Given the description of an element on the screen output the (x, y) to click on. 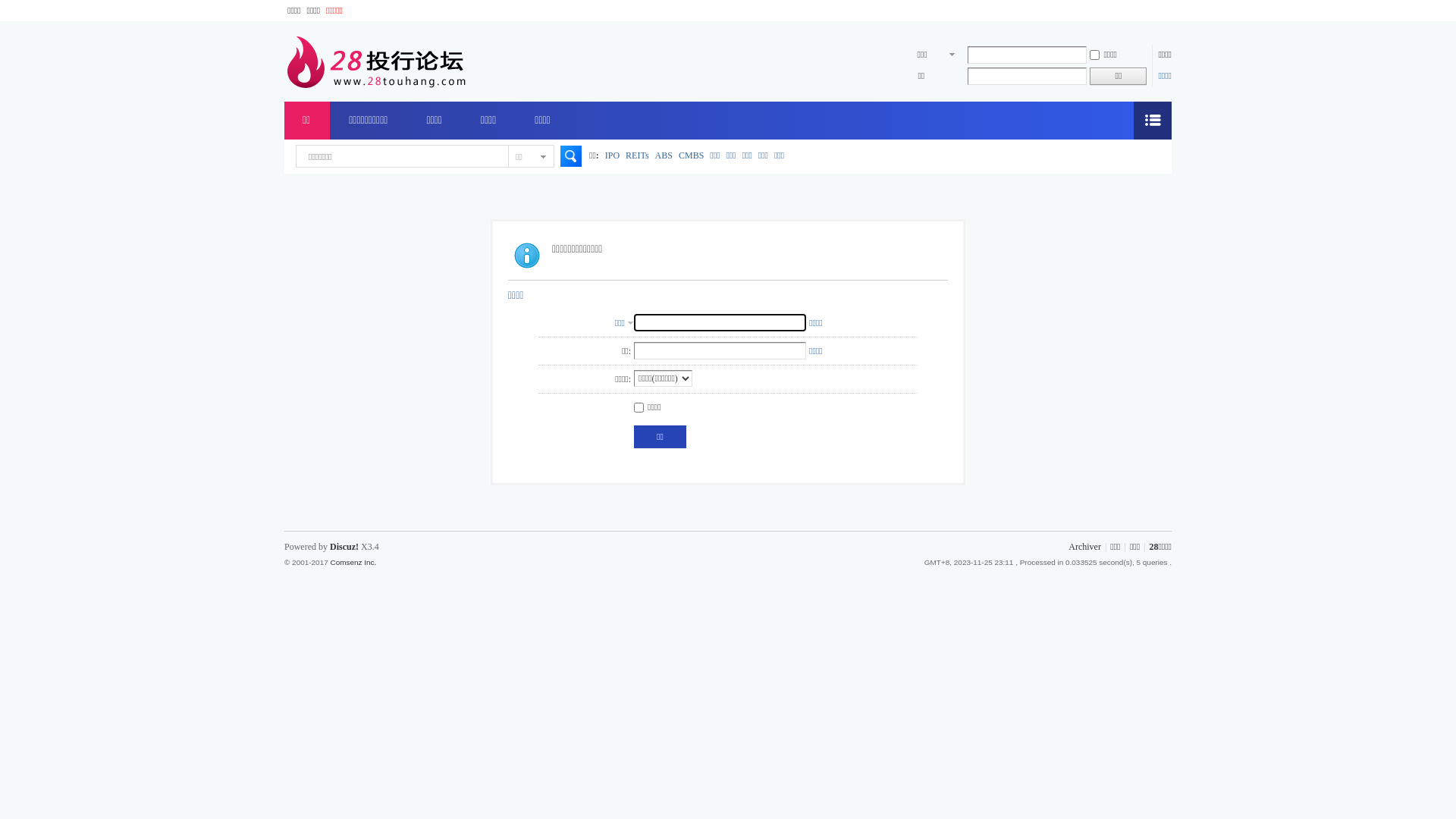
CMBS Element type: text (690, 155)
Archiver Element type: text (1084, 546)
Discuz! Element type: text (343, 546)
IPO Element type: text (612, 155)
ABS Element type: text (663, 155)
REITs Element type: text (637, 155)
Comsenz Inc. Element type: text (352, 562)
